Given the description of an element on the screen output the (x, y) to click on. 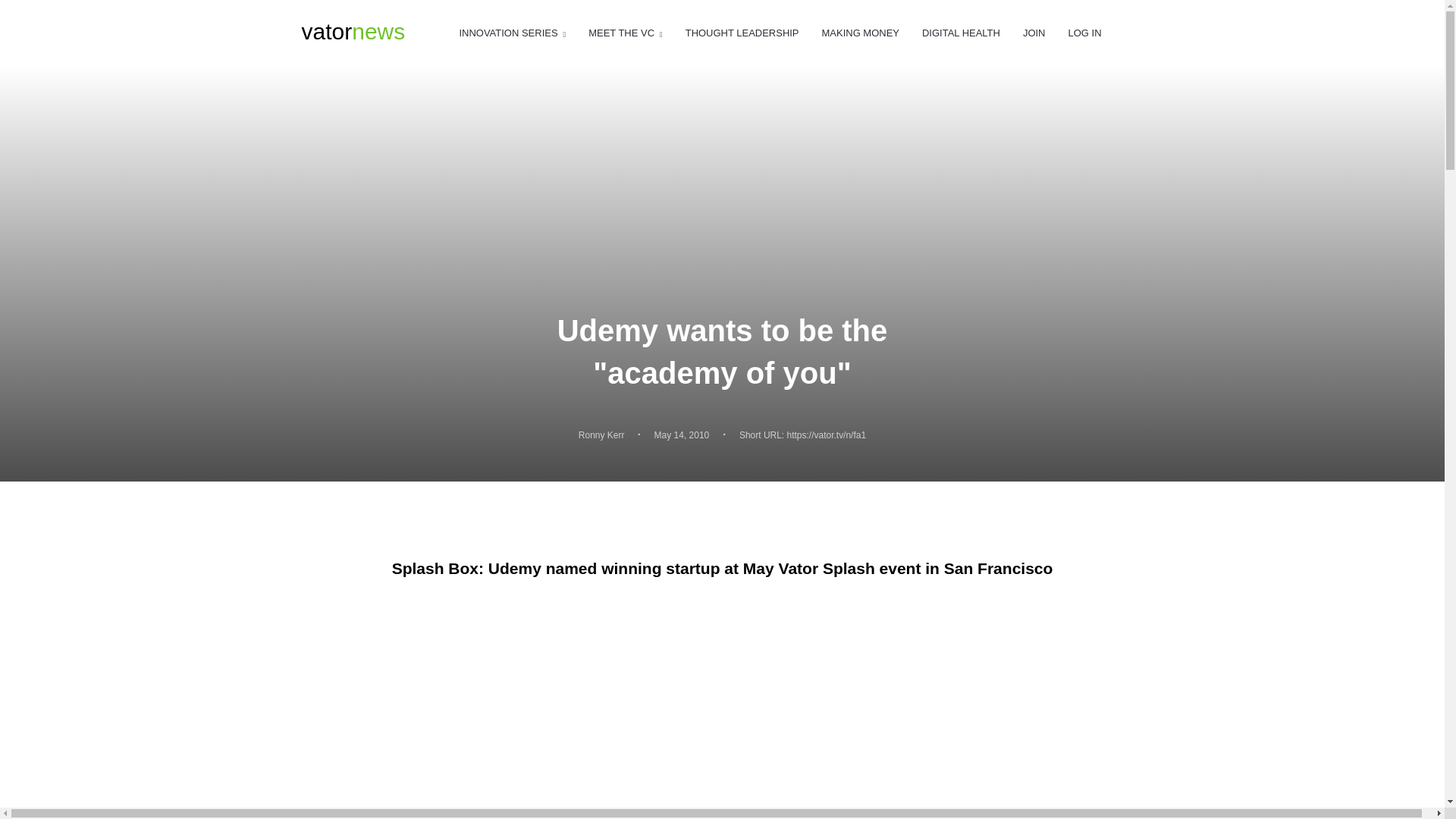
LOG IN (1083, 33)
THOUGHT LEADERSHIP (742, 33)
MAKING MONEY (860, 33)
INNOVATION SERIES (512, 33)
DIGITAL HEALTH (960, 33)
MEET THE VC (625, 33)
Ronny Kerr (353, 32)
